Given the description of an element on the screen output the (x, y) to click on. 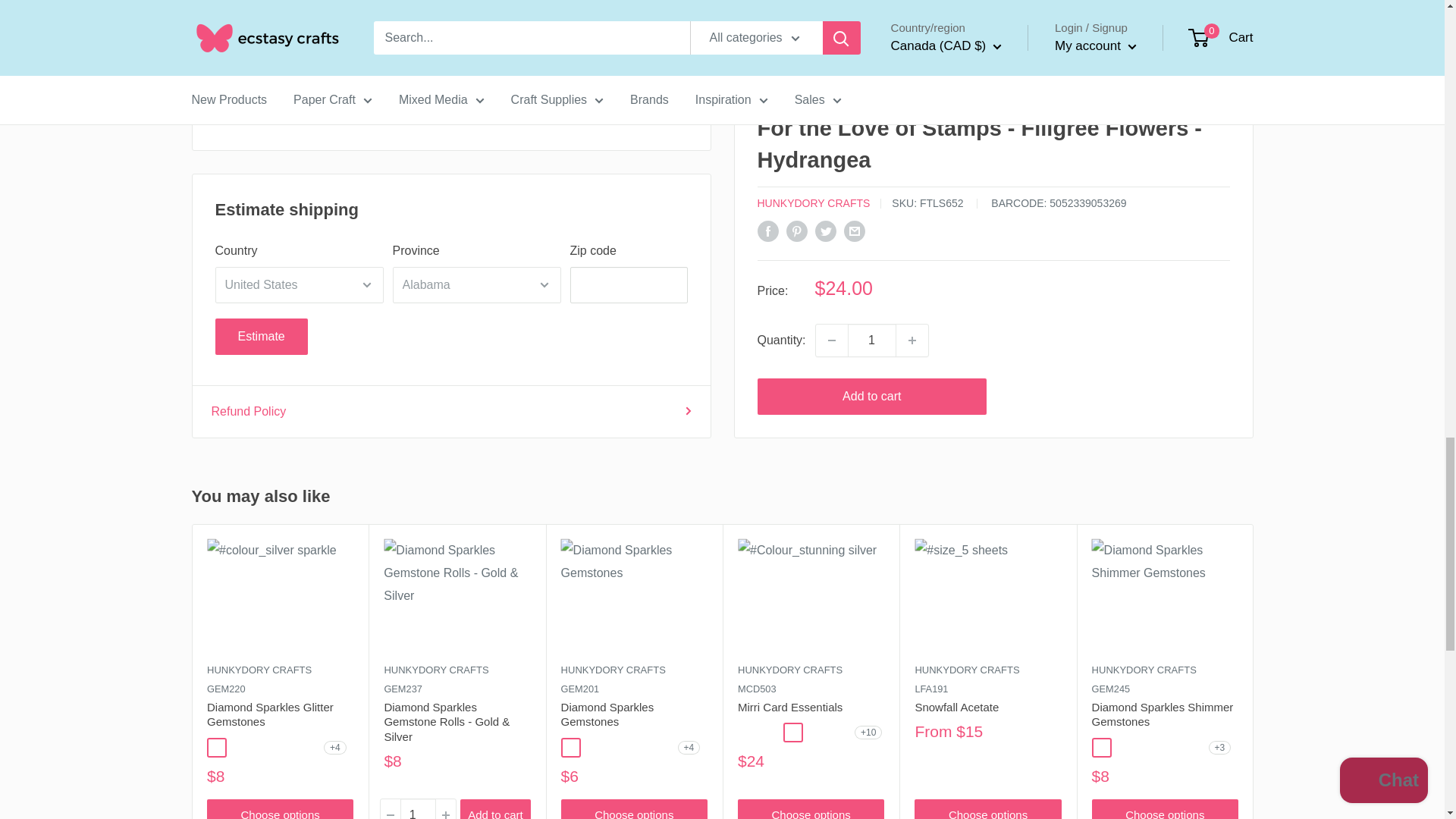
Gold Sparkle (238, 747)
Silver Sparkle (215, 747)
Aurora Borealis (569, 747)
Blue Sparkles (306, 747)
Festive Selection (638, 747)
1 (417, 809)
Precious Purples (660, 747)
Monochrome Sparkles (260, 747)
Purple Sparkles (284, 747)
